Given the description of an element on the screen output the (x, y) to click on. 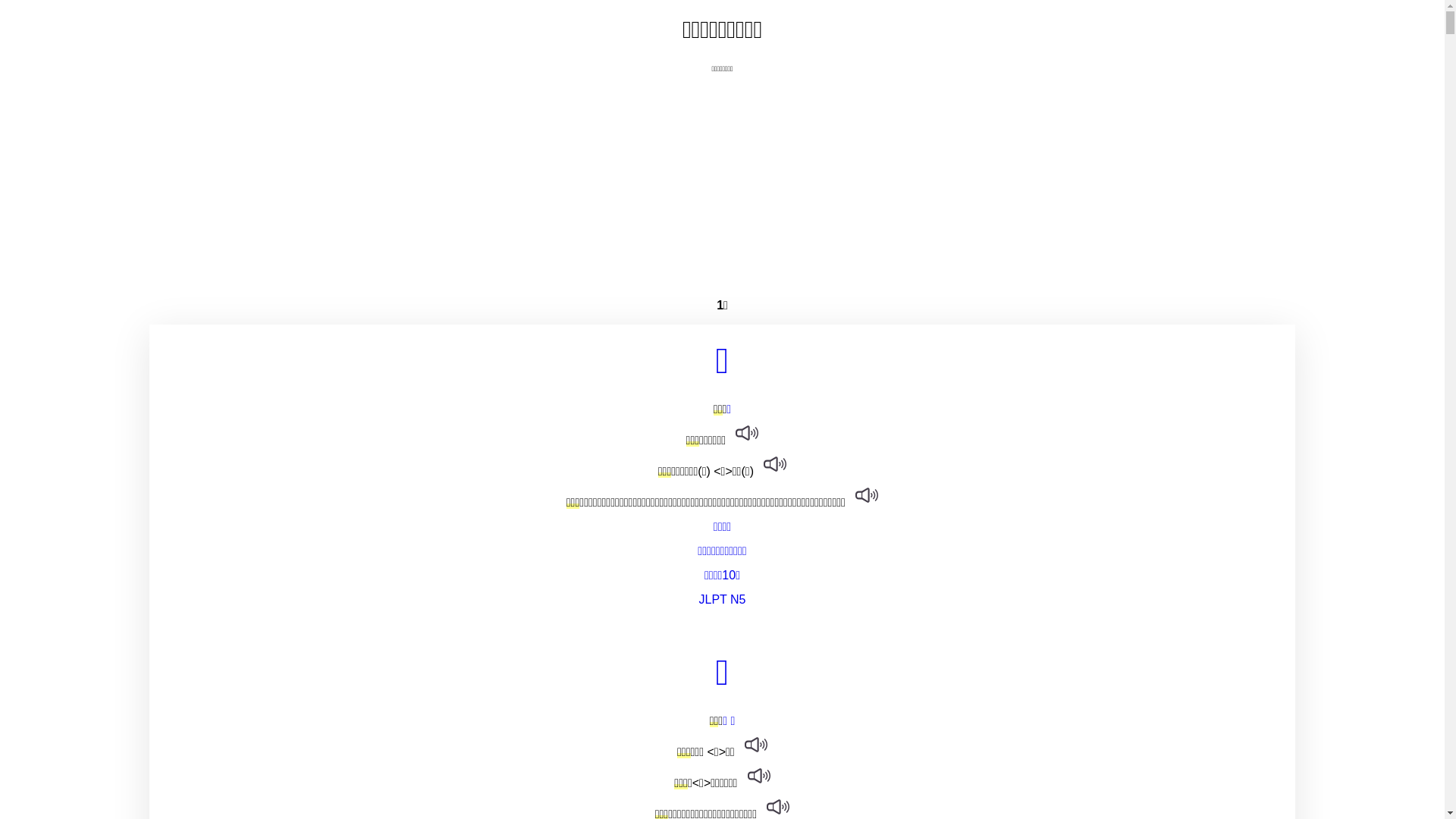
Advertisement Element type: hover (721, 180)
JLPT N5 Element type: text (722, 599)
